Given the description of an element on the screen output the (x, y) to click on. 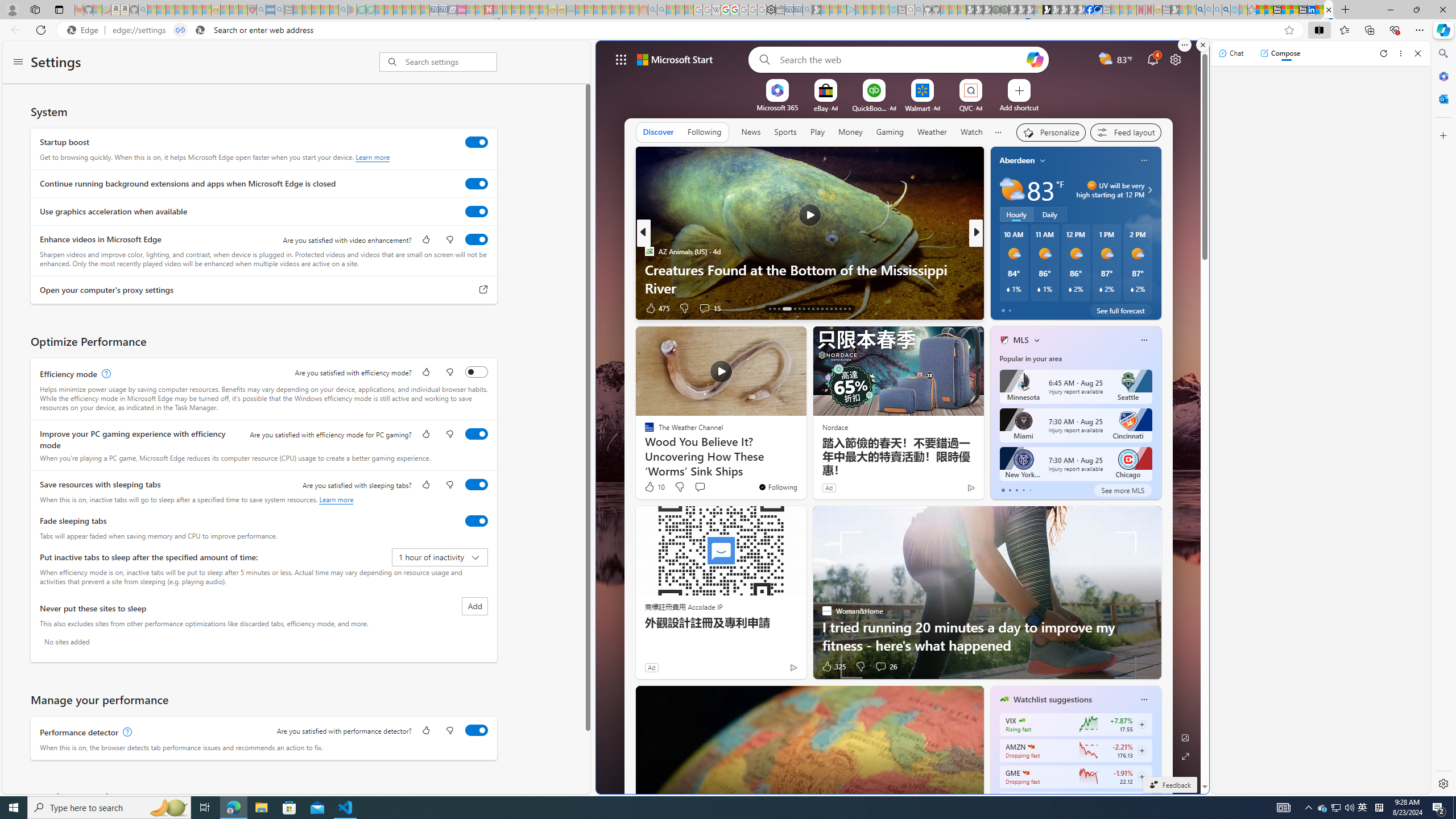
Search icon (200, 29)
Aberdeen (1016, 160)
View comments 10 Comment (1059, 307)
AutomationID: tab-18 (799, 308)
More options. (1183, 45)
23 Like (1005, 307)
15 Times Snakes Messed With The Wrong Opponent (1159, 287)
AutomationID: backgroundImagePicture (898, 416)
utah sues federal government - Search - Sleeping (279, 9)
Privacy Help Center - Policies Help (725, 9)
